Given the description of an element on the screen output the (x, y) to click on. 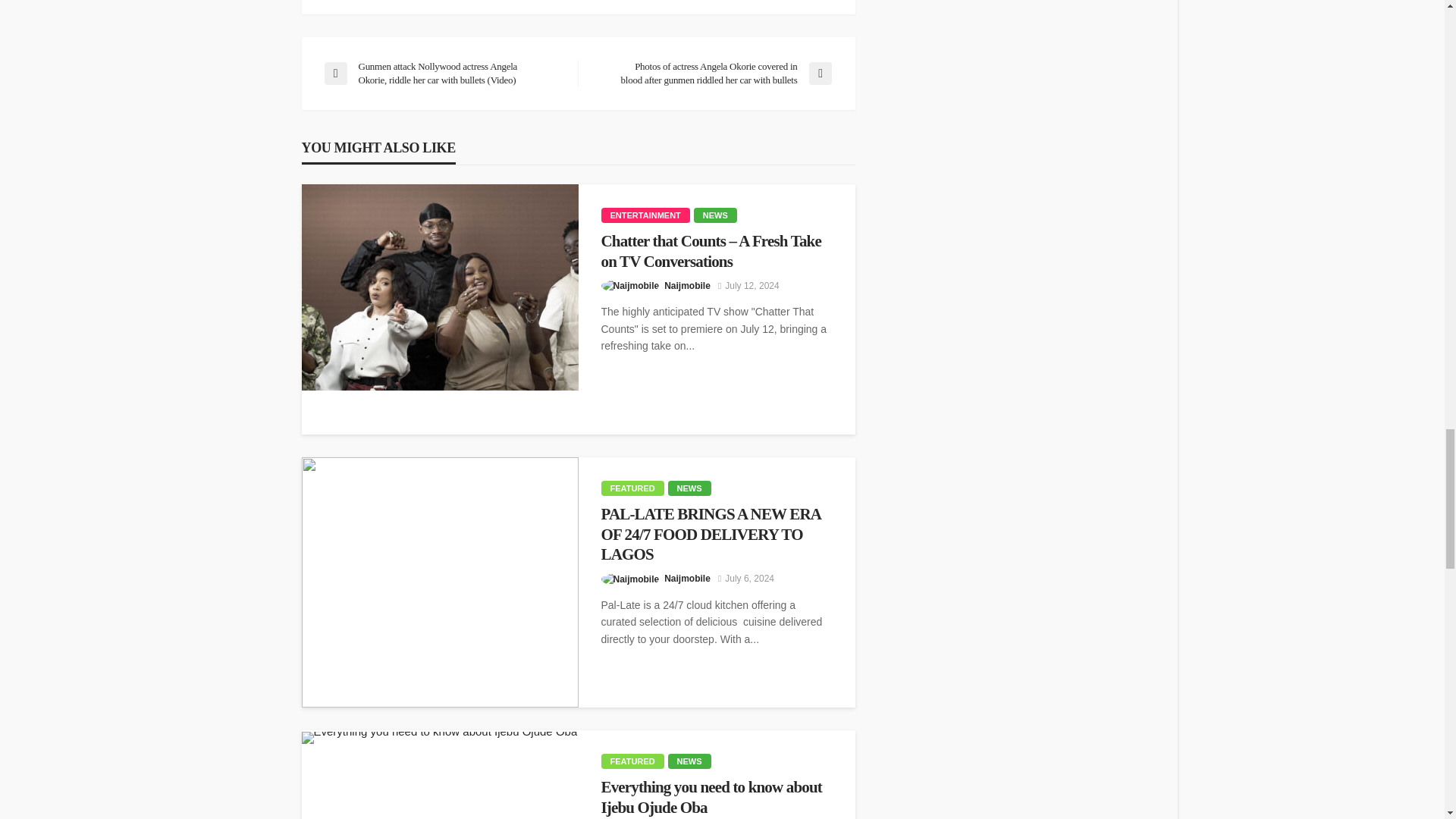
Entertainment (643, 215)
News (715, 215)
